Given the description of an element on the screen output the (x, y) to click on. 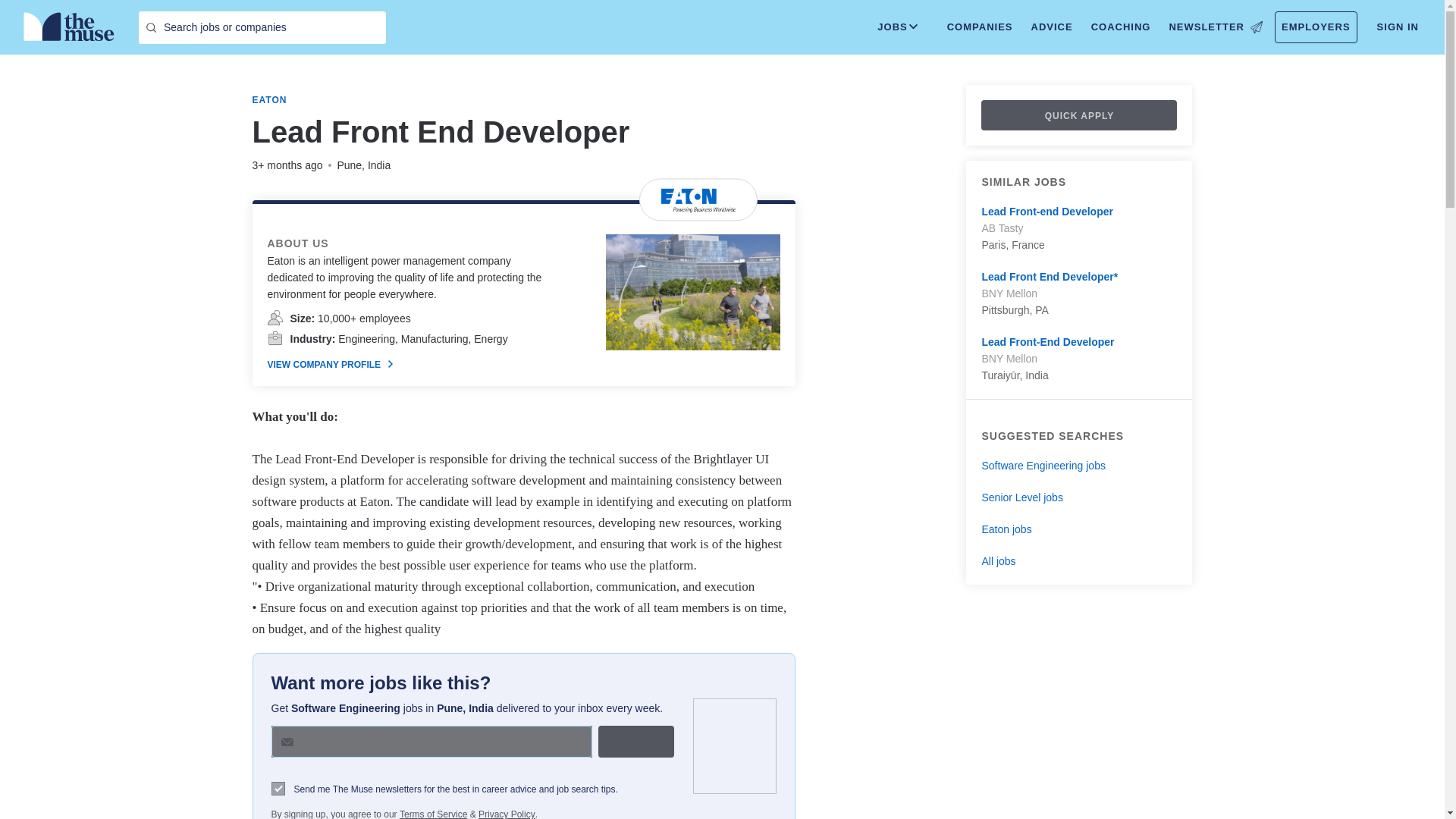
Terms of Service (432, 812)
COACHING (1120, 27)
VIEW COMPANY PROFILE (329, 364)
GET JOBS (636, 741)
Privacy Policy (506, 812)
SIGN IN (1398, 27)
EATON (268, 100)
EMPLOYERS (1315, 27)
ADVICE (1051, 27)
NEWSLETTER (1214, 27)
COMPANIES (979, 27)
